Given the description of an element on the screen output the (x, y) to click on. 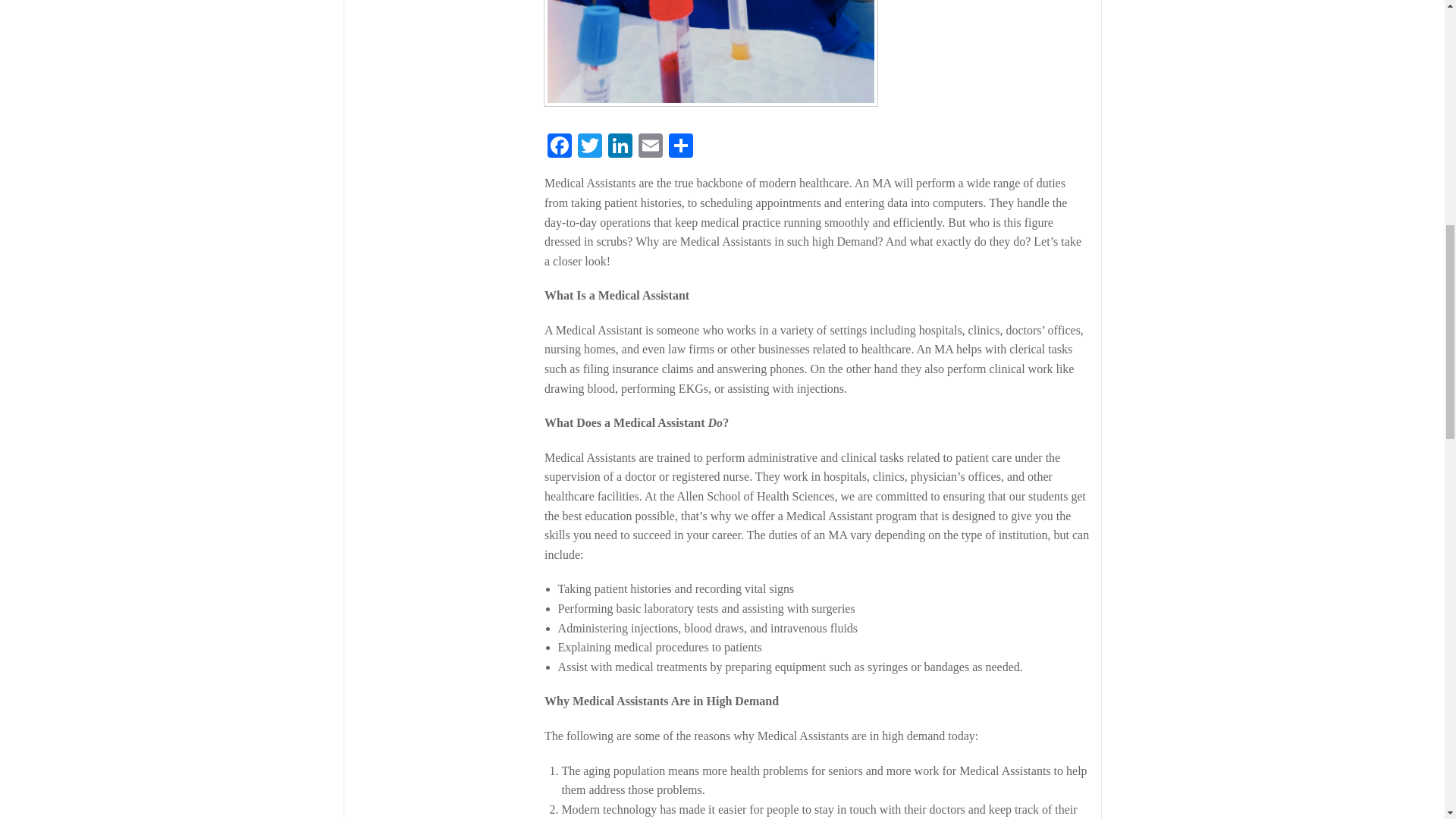
Email (649, 147)
Facebook (559, 147)
LinkedIn (619, 147)
Twitter (590, 147)
